Given the description of an element on the screen output the (x, y) to click on. 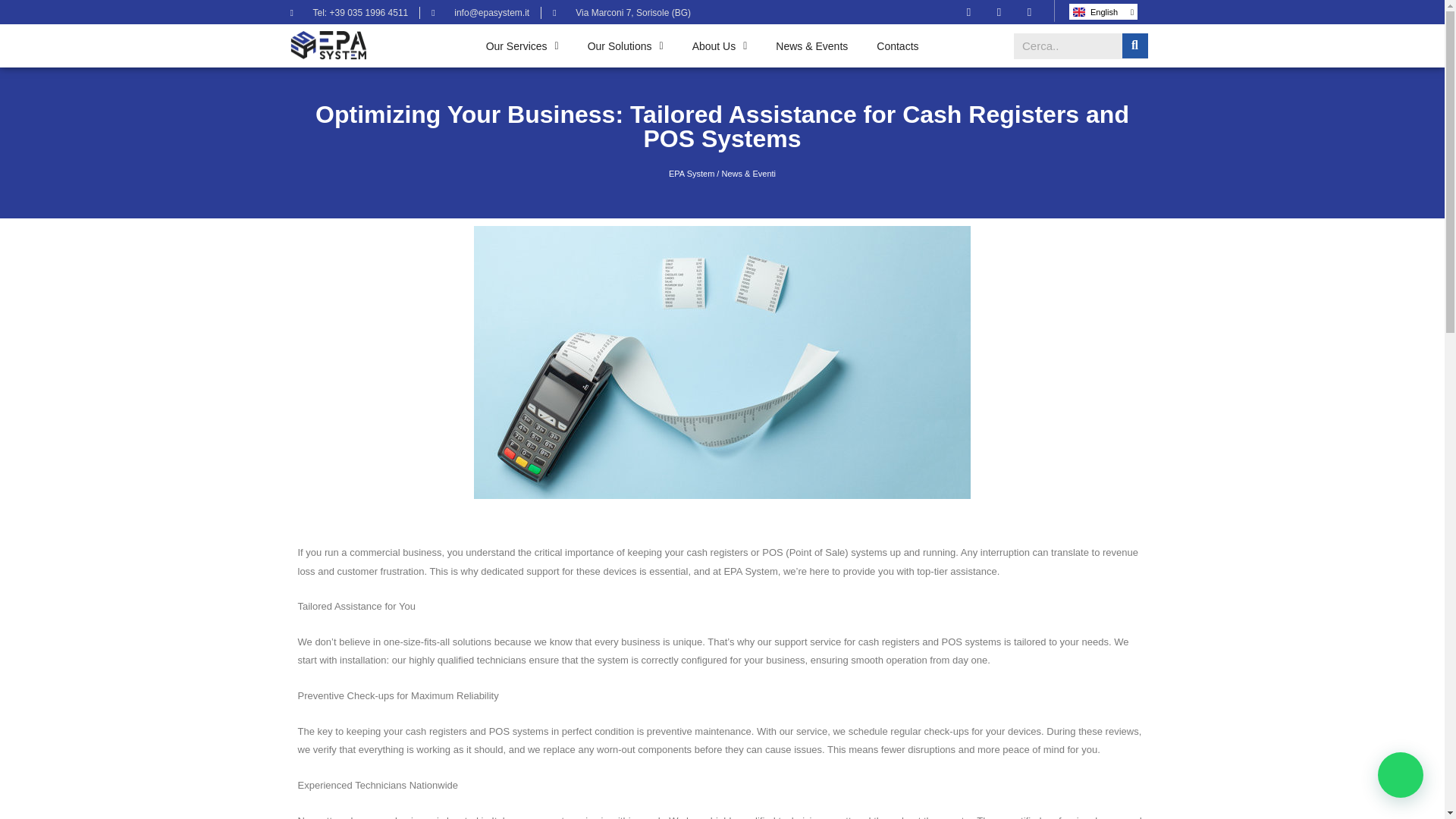
Search (1135, 45)
Our Solutions (625, 45)
Our Services (522, 45)
Contacts (897, 45)
About Us (719, 45)
Search (1067, 45)
English (1102, 11)
